Given the description of an element on the screen output the (x, y) to click on. 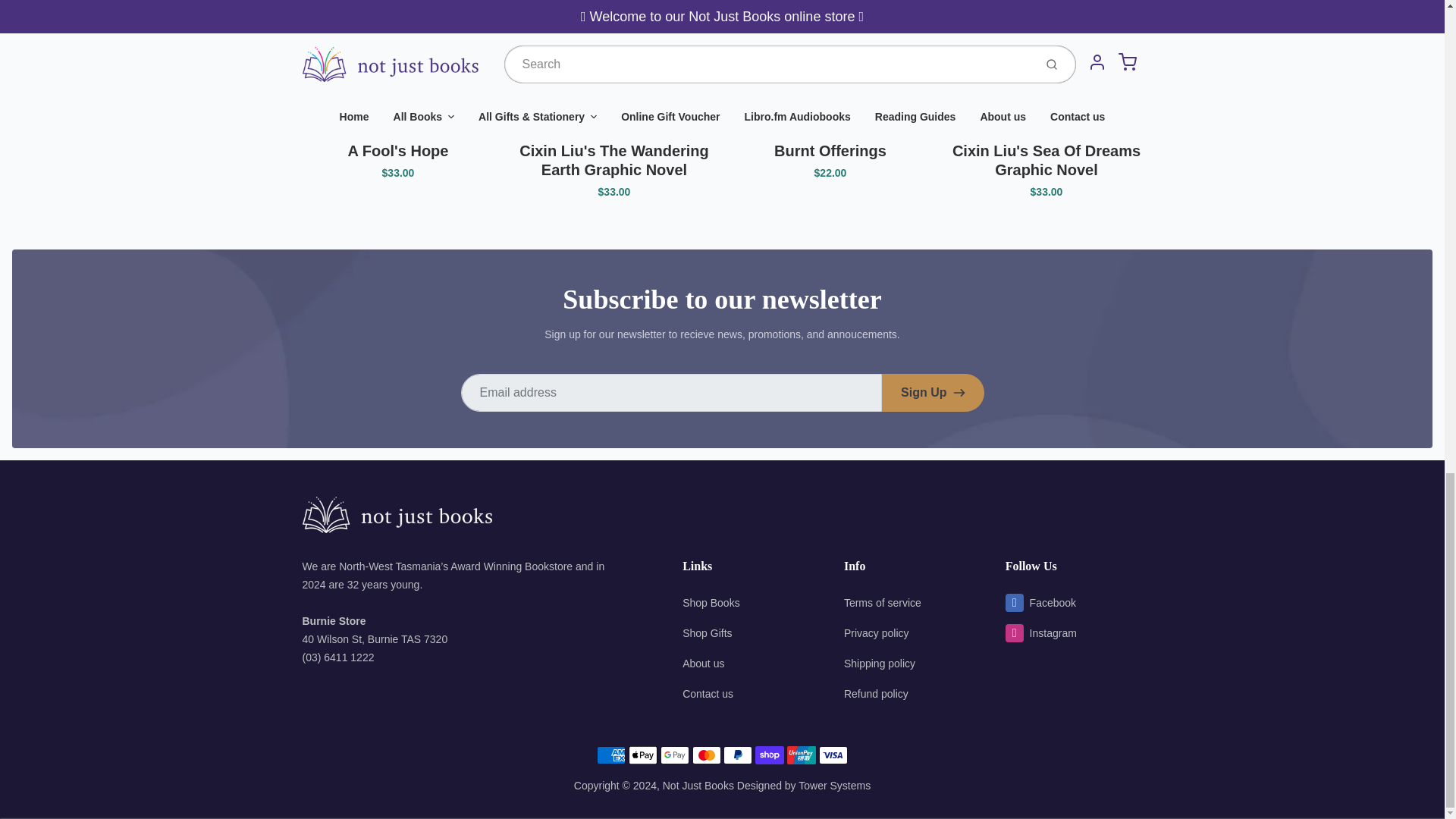
Apple Pay (643, 755)
Union Pay (801, 755)
Shop Pay (769, 755)
Google Pay (674, 755)
Mastercard (706, 755)
American Express (611, 755)
PayPal (737, 755)
Visa (832, 755)
